Given the description of an element on the screen output the (x, y) to click on. 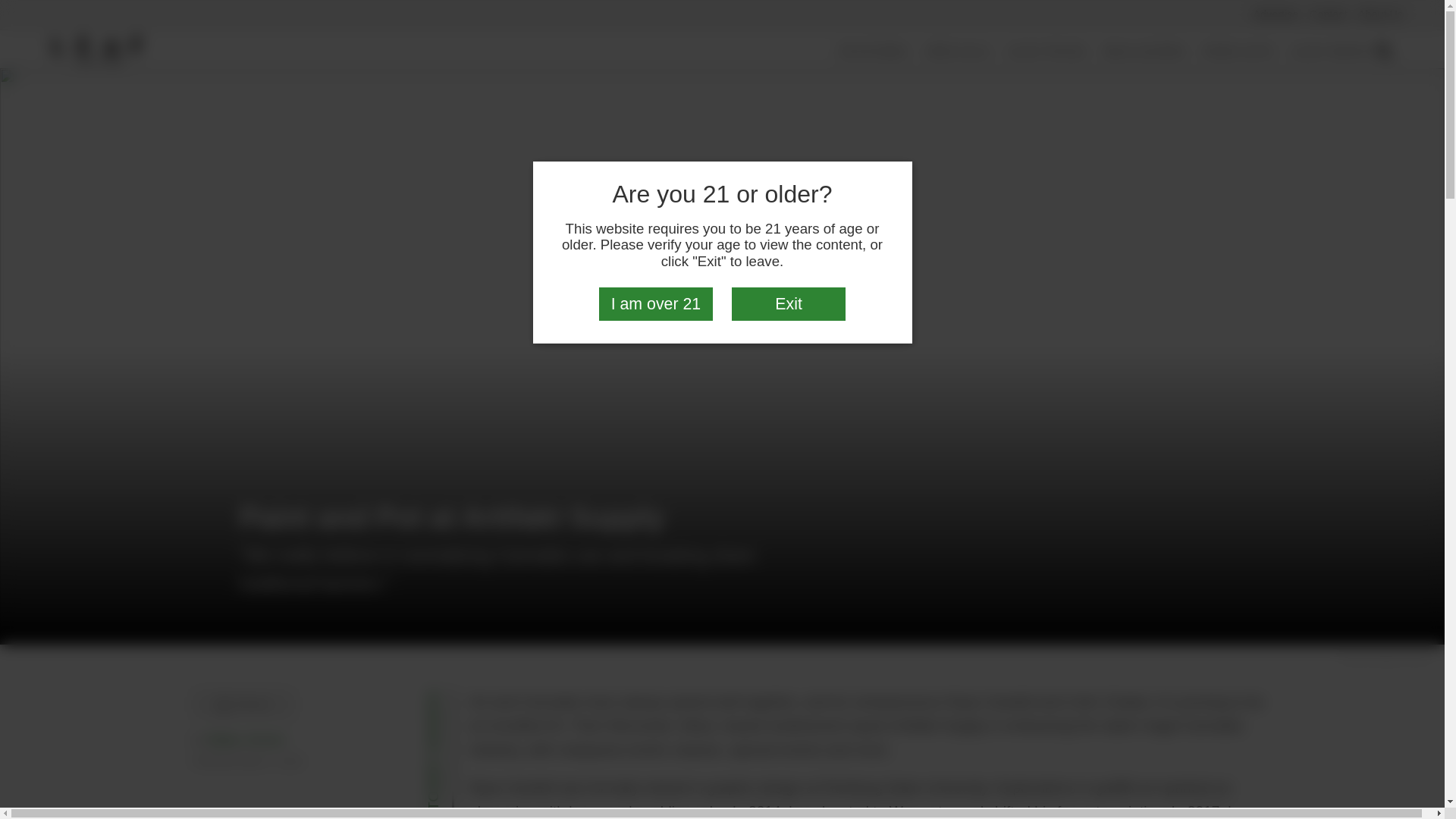
Contact (1328, 14)
Advertise (1275, 14)
MAGAZINES (1145, 51)
LEAF PICKS (1047, 51)
Share this article (242, 704)
SPECIALS (957, 51)
FEATURES (874, 51)
LEAF BOWL (1331, 51)
About Us (1380, 14)
PODCASTS (1238, 51)
